Given the description of an element on the screen output the (x, y) to click on. 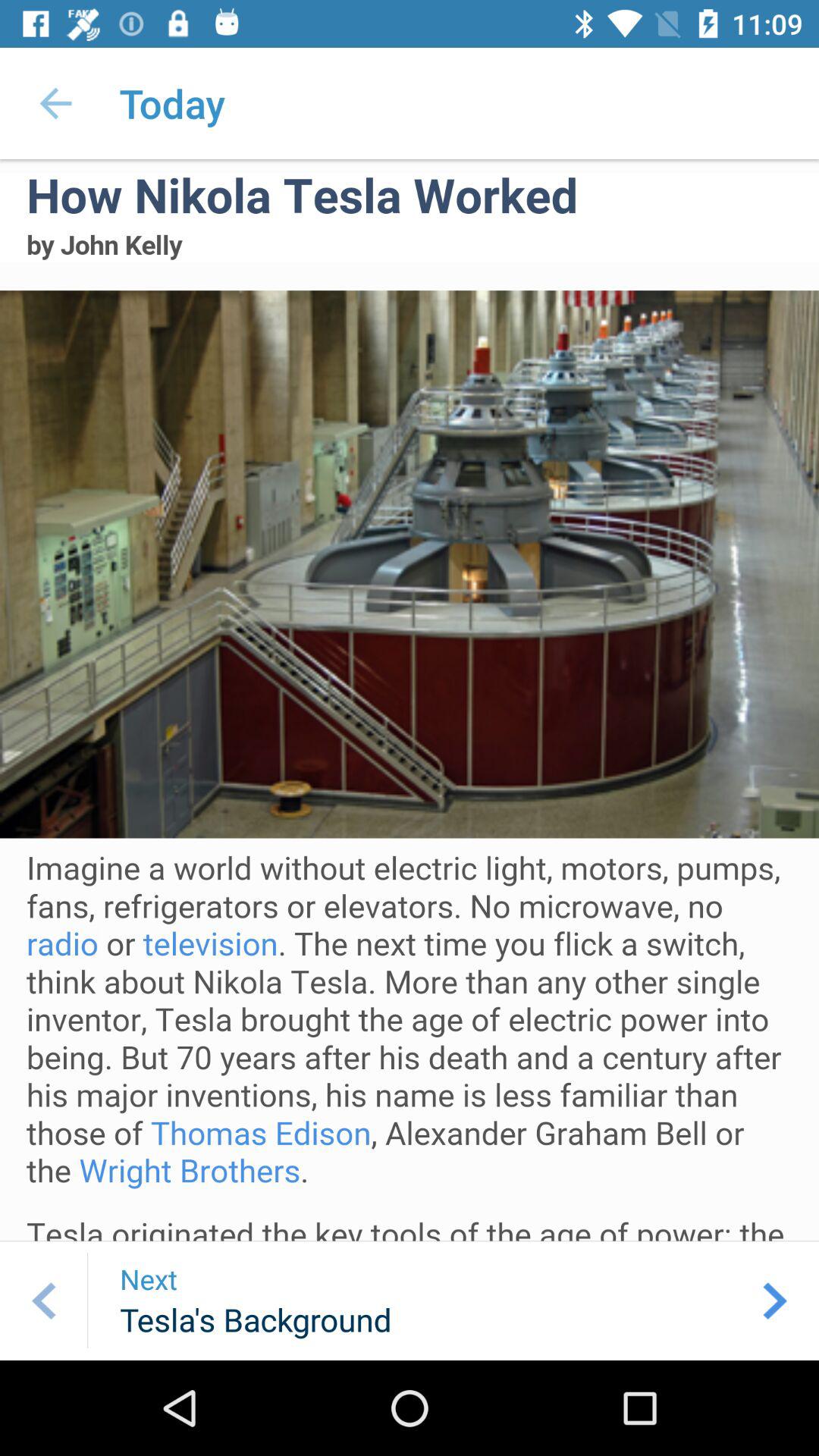
go to next article (775, 1300)
